Given the description of an element on the screen output the (x, y) to click on. 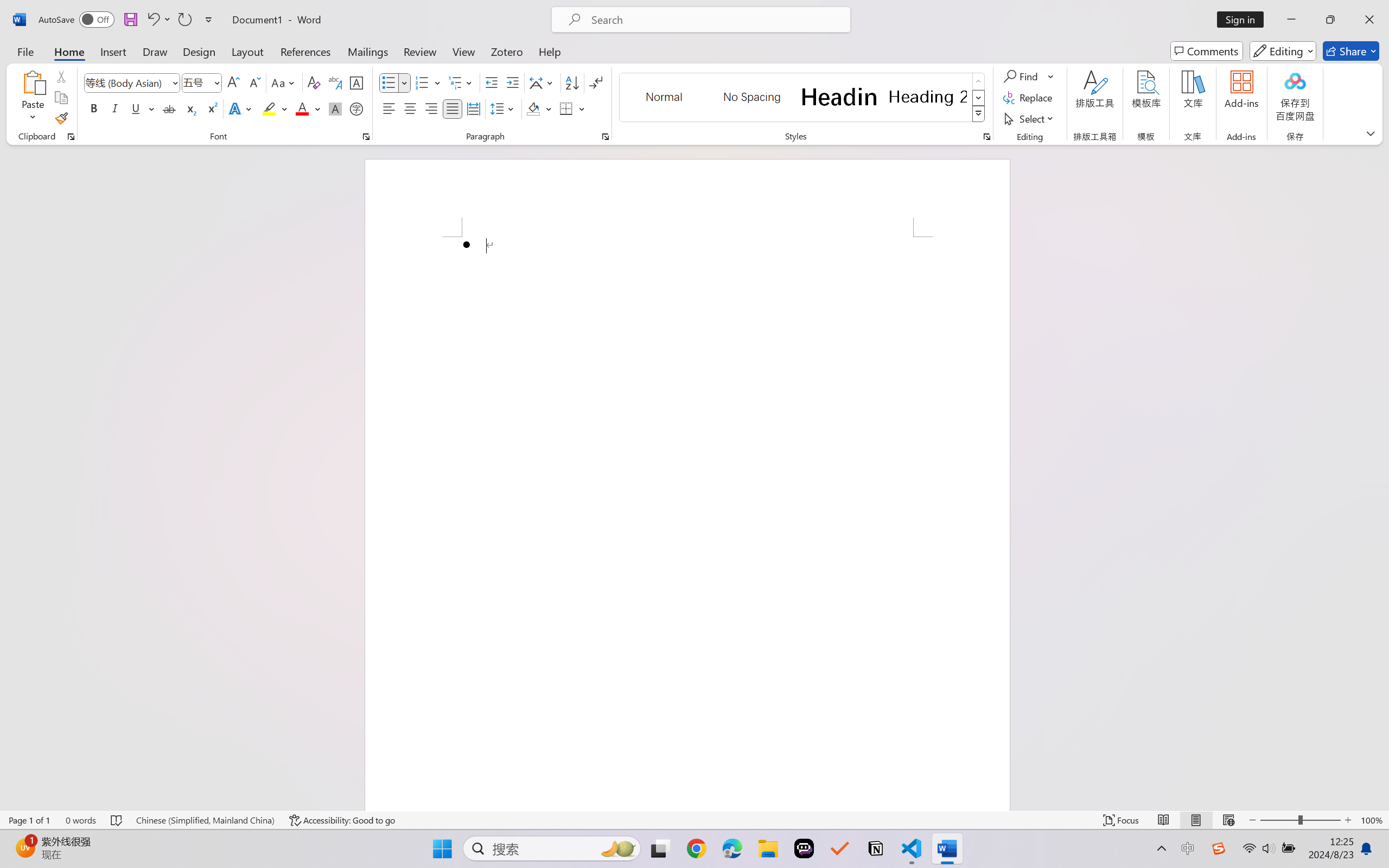
Language Chinese (Simplified, Mainland China) (205, 819)
Undo Bullet Default (152, 19)
